Given the description of an element on the screen output the (x, y) to click on. 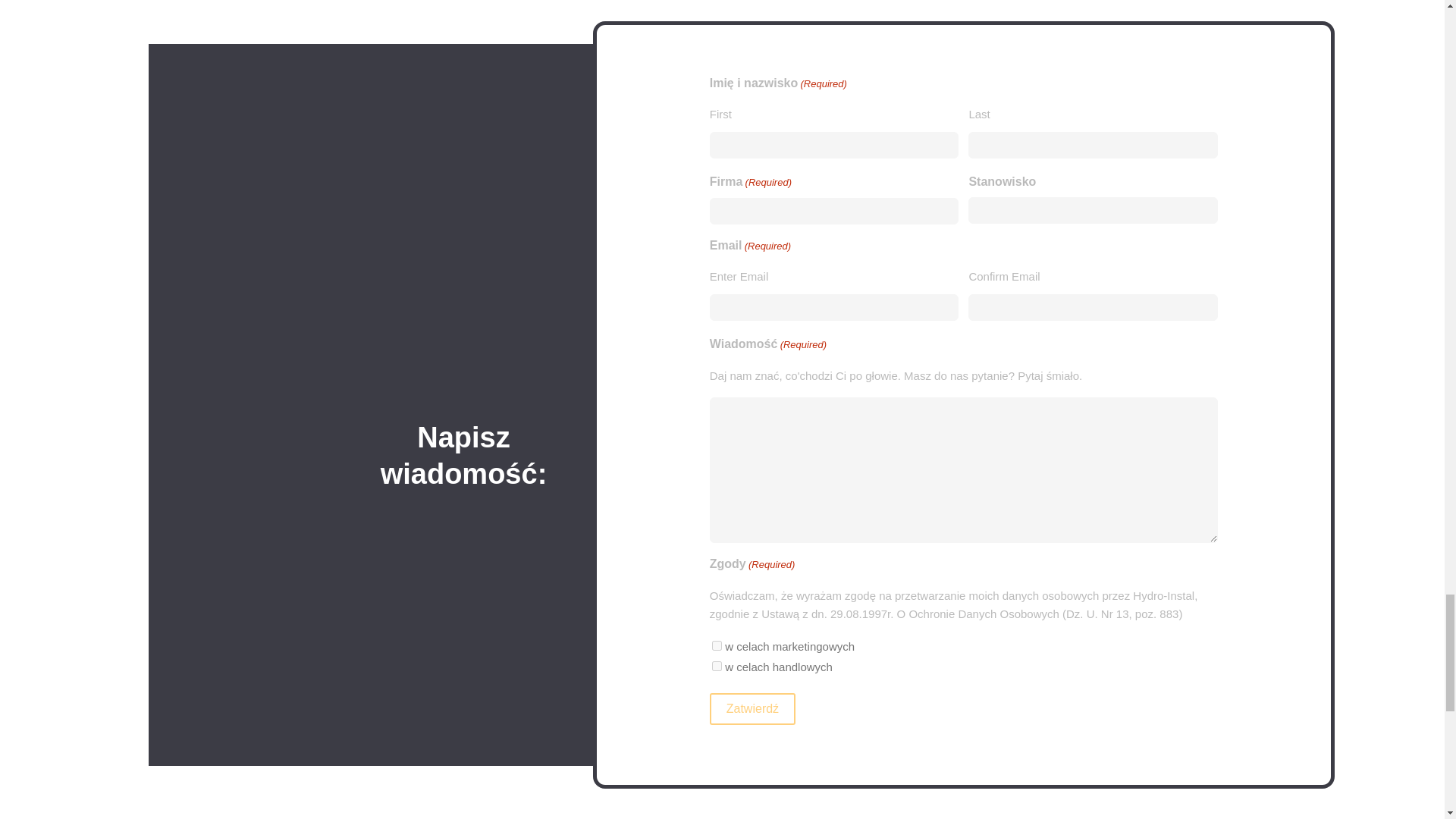
w celach handlowych (716, 665)
w celach marketingowych (716, 645)
